Given the description of an element on the screen output the (x, y) to click on. 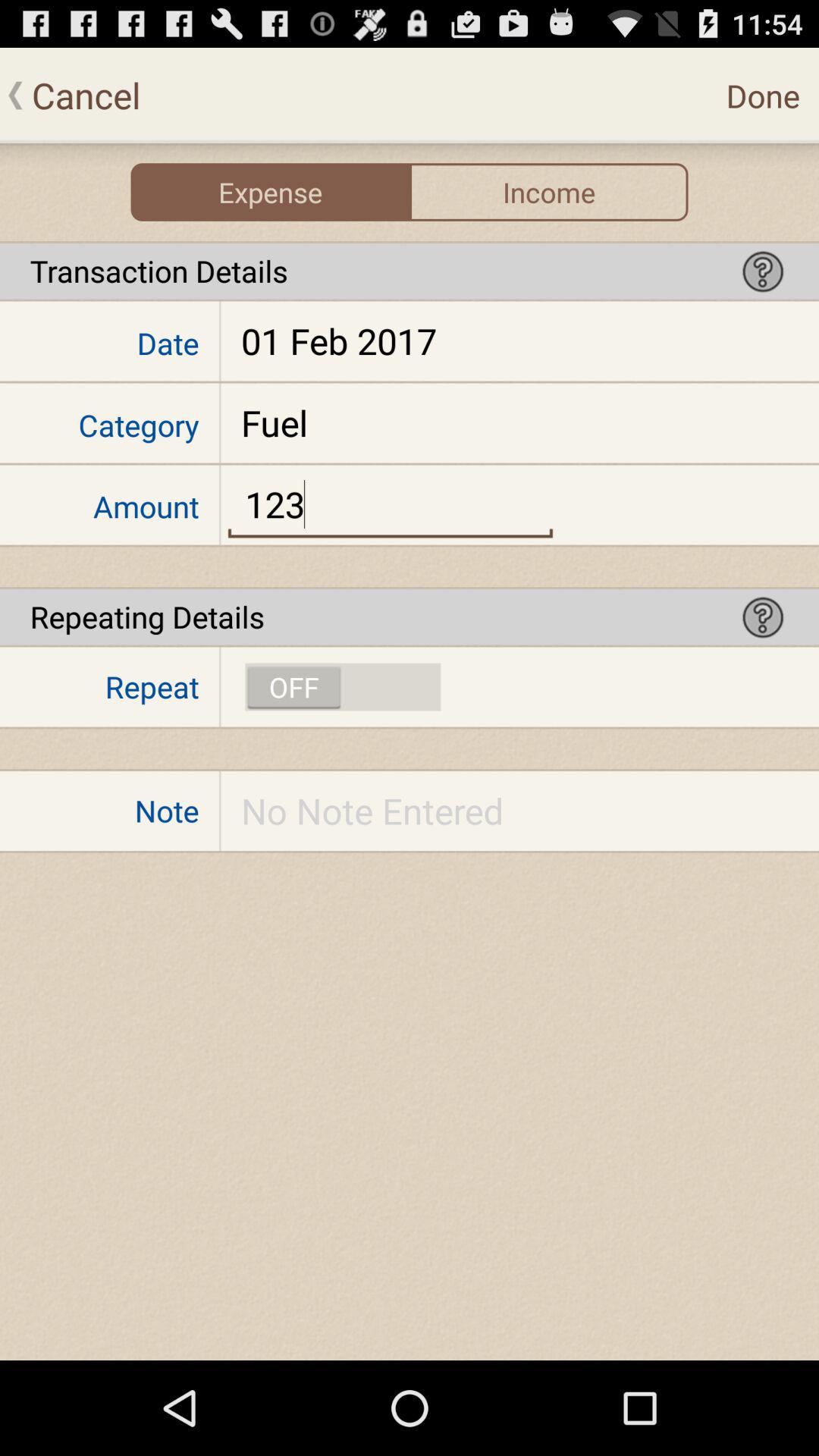
help (762, 616)
